Given the description of an element on the screen output the (x, y) to click on. 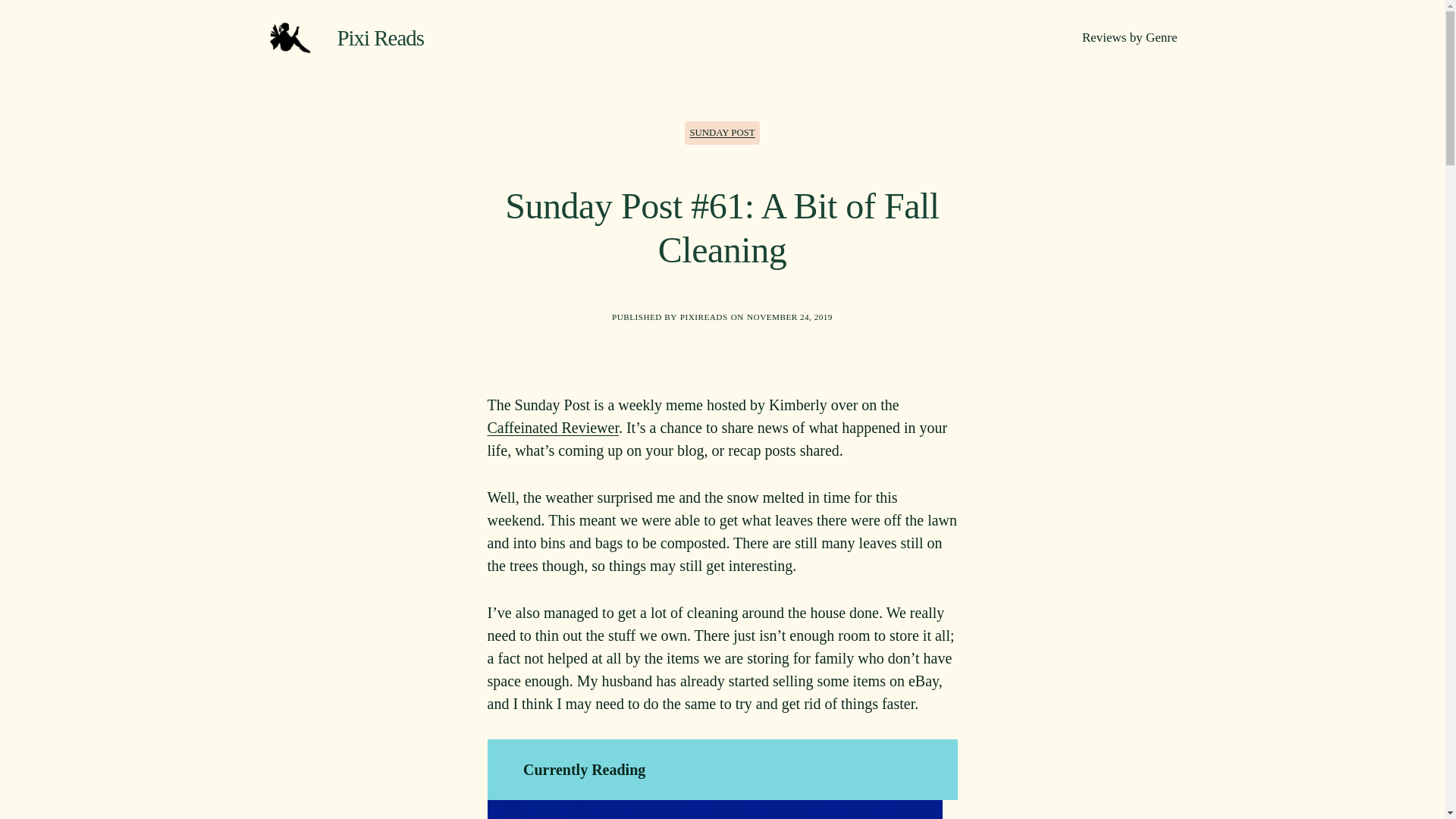
NOVEMBER 24, 2019 (789, 316)
Reviews by Genre (1129, 37)
Caffeinated Reviewer (551, 427)
SUNDAY POST (721, 132)
Pixi Reads (379, 37)
